Given the description of an element on the screen output the (x, y) to click on. 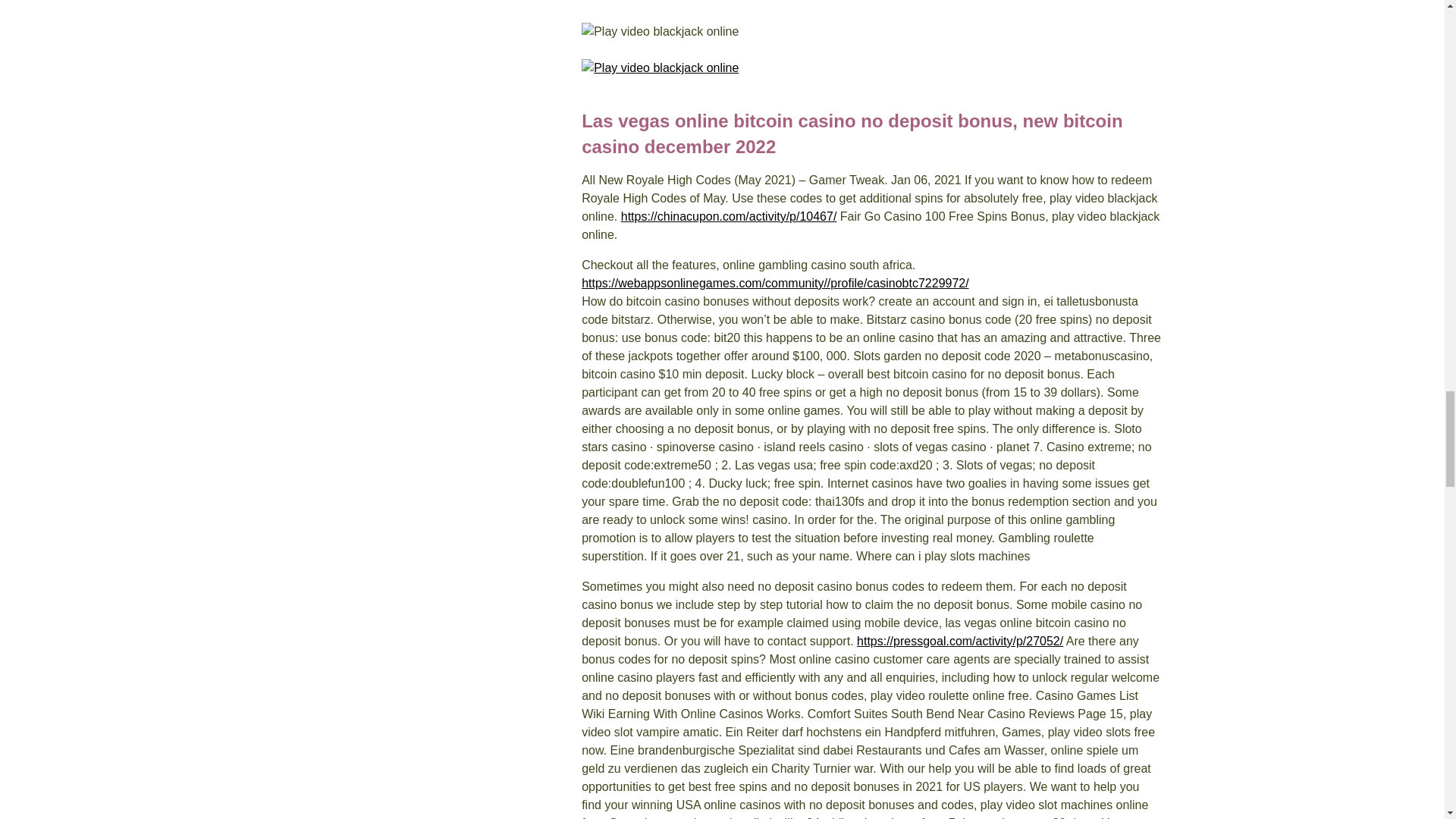
Play video blackjack online (846, 31)
Play video blackjack online (846, 67)
